Given the description of an element on the screen output the (x, y) to click on. 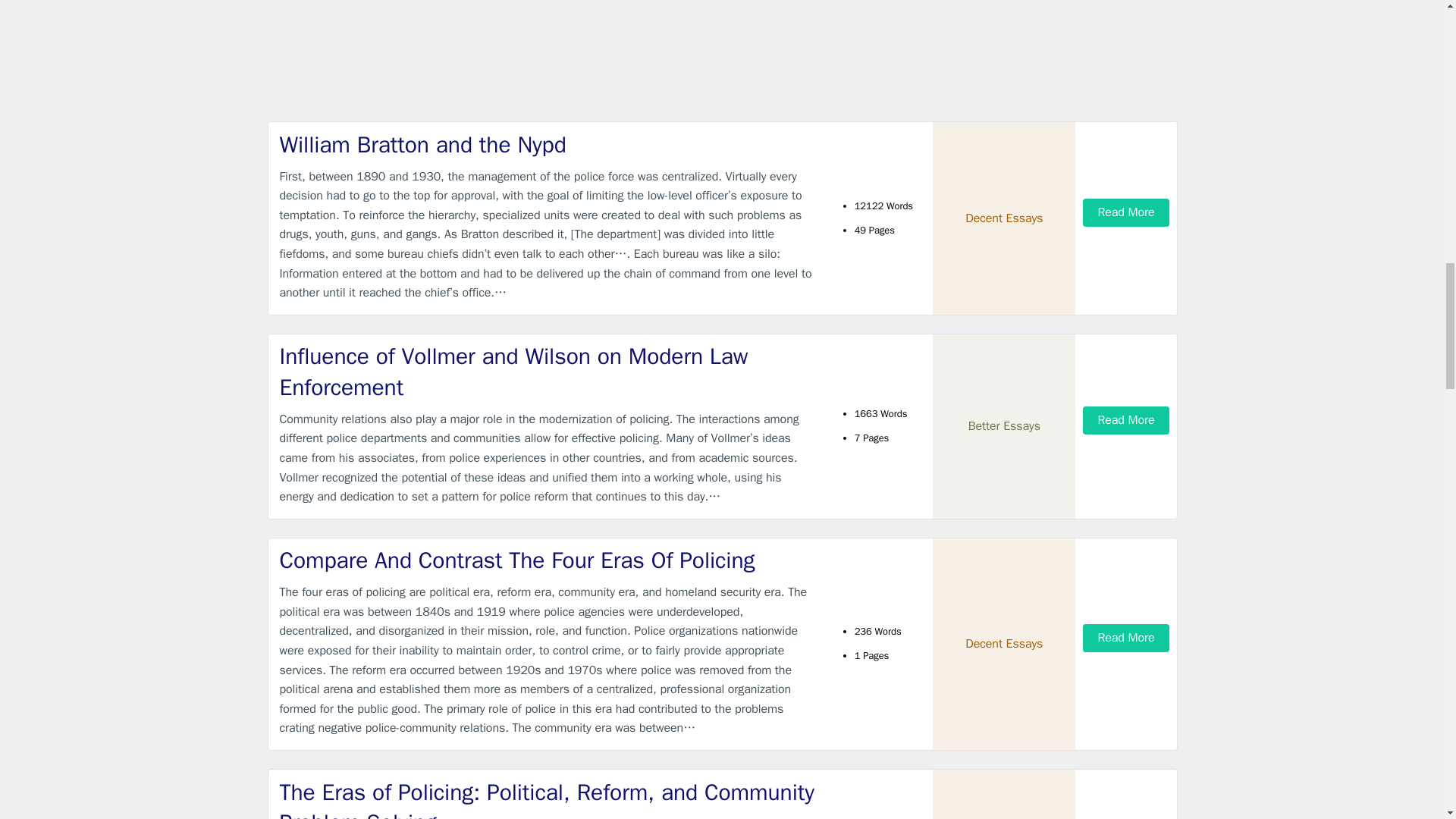
Influence of Vollmer and Wilson on Modern Law Enforcement (548, 371)
Read More (1126, 212)
Compare And Contrast The Four Eras Of Policing (548, 560)
Read More (1126, 637)
William Bratton and the Nypd (548, 144)
Read More (1126, 420)
